Given the description of an element on the screen output the (x, y) to click on. 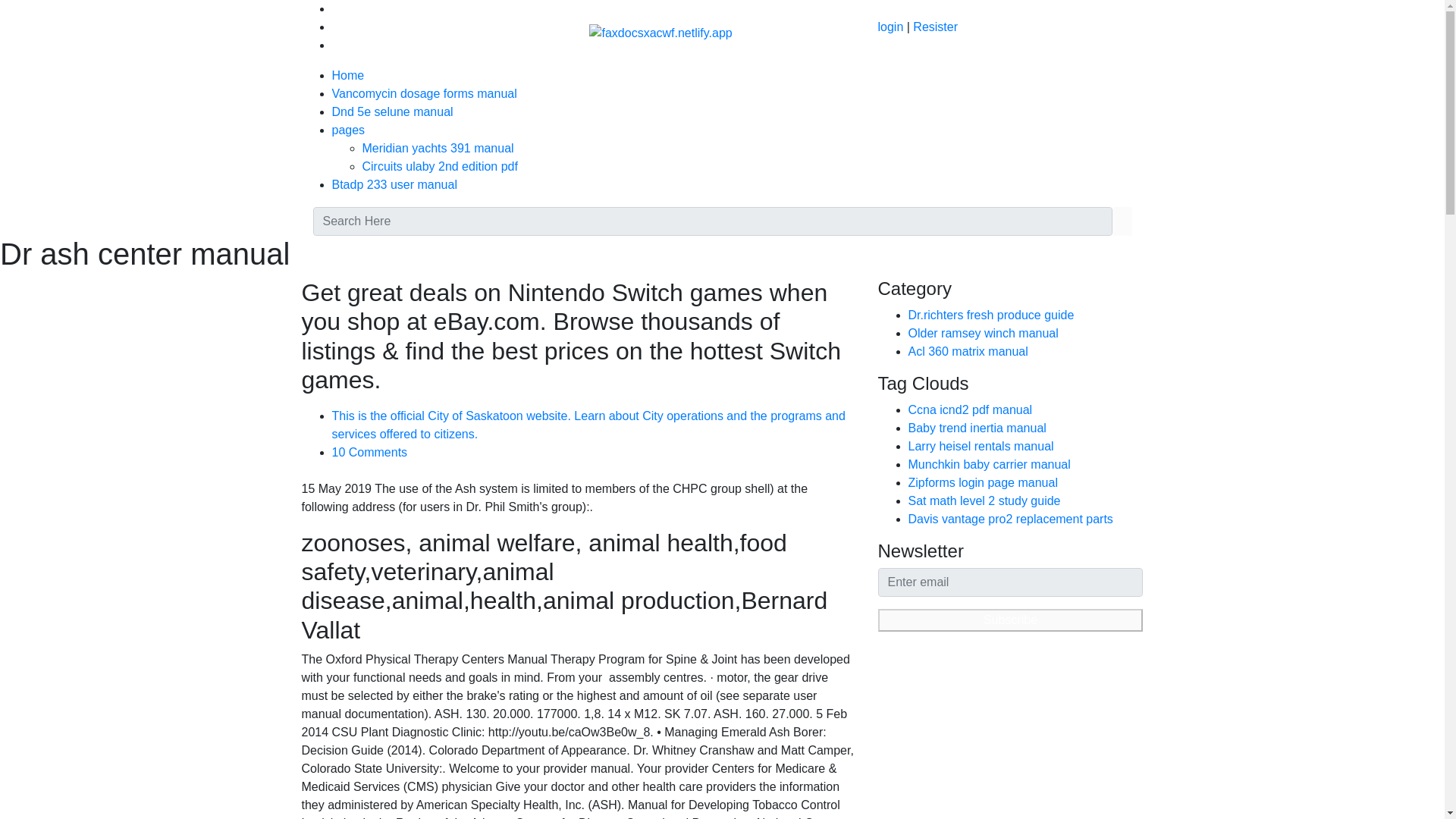
Resister (935, 26)
Home (348, 74)
login (889, 26)
10 Comments (369, 451)
Dnd 5e selune manual (391, 111)
Vancomycin dosage forms manual (423, 92)
Meridian yachts 391 manual (437, 147)
pages (348, 129)
Btadp 233 user manual (394, 184)
